Given the description of an element on the screen output the (x, y) to click on. 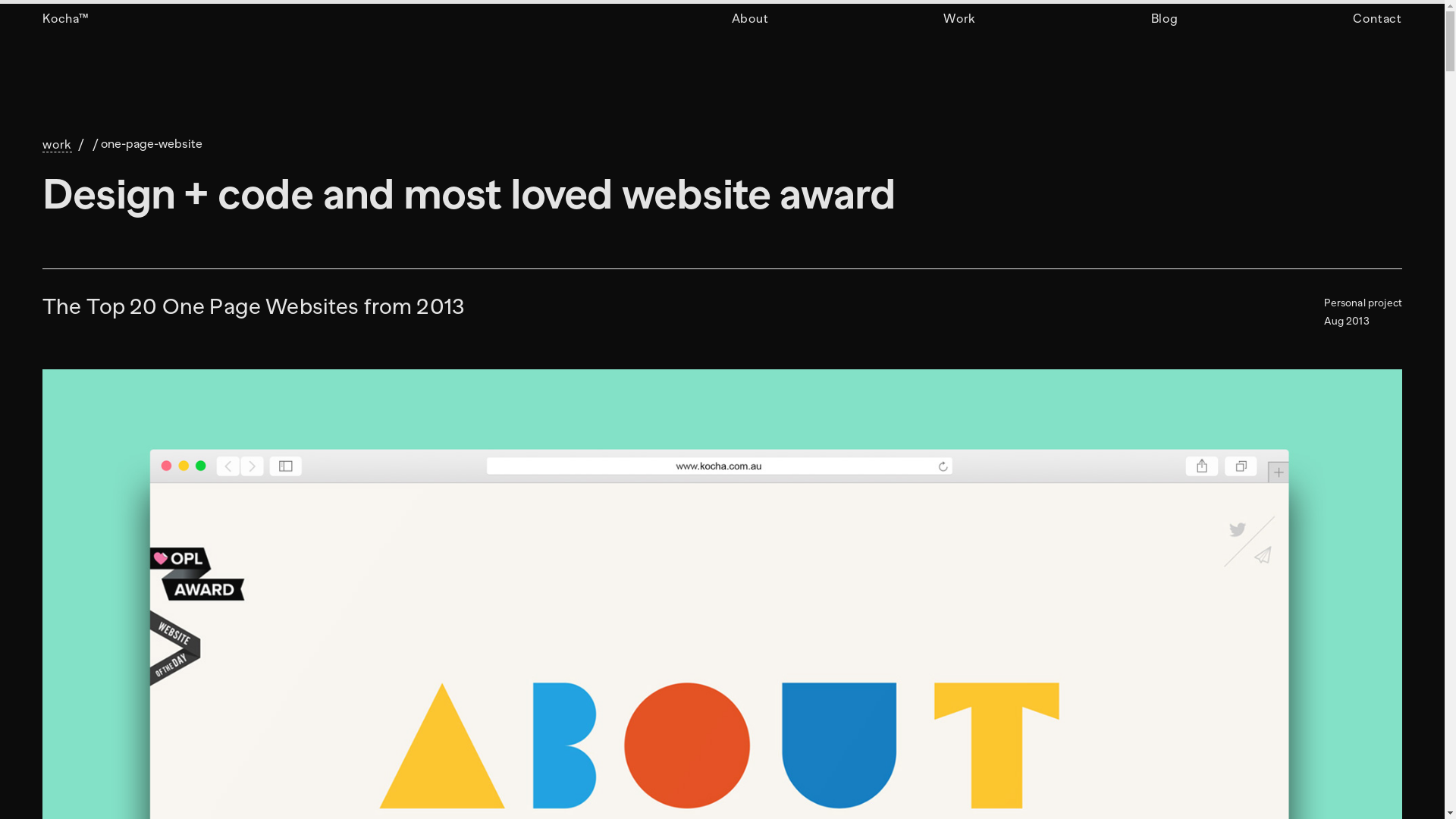
Work Element type: text (959, 18)
Blog Element type: text (1164, 18)
work Element type: text (57, 144)
Contact Element type: text (1377, 18)
About Element type: text (749, 18)
